Given the description of an element on the screen output the (x, y) to click on. 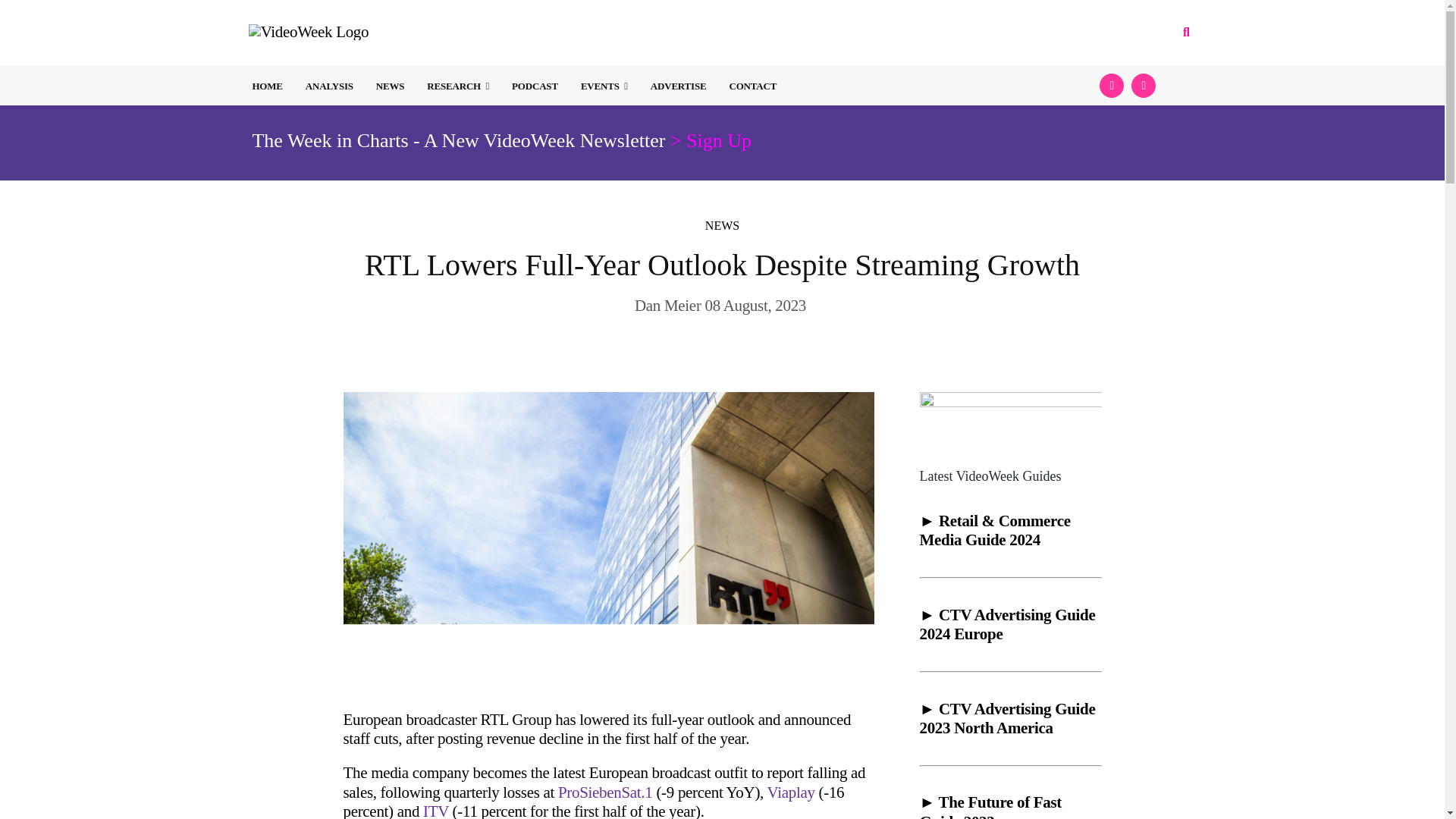
LinkedIn (1143, 85)
RESEARCH (457, 85)
ANALYSIS (329, 85)
X (1111, 85)
